Given the description of an element on the screen output the (x, y) to click on. 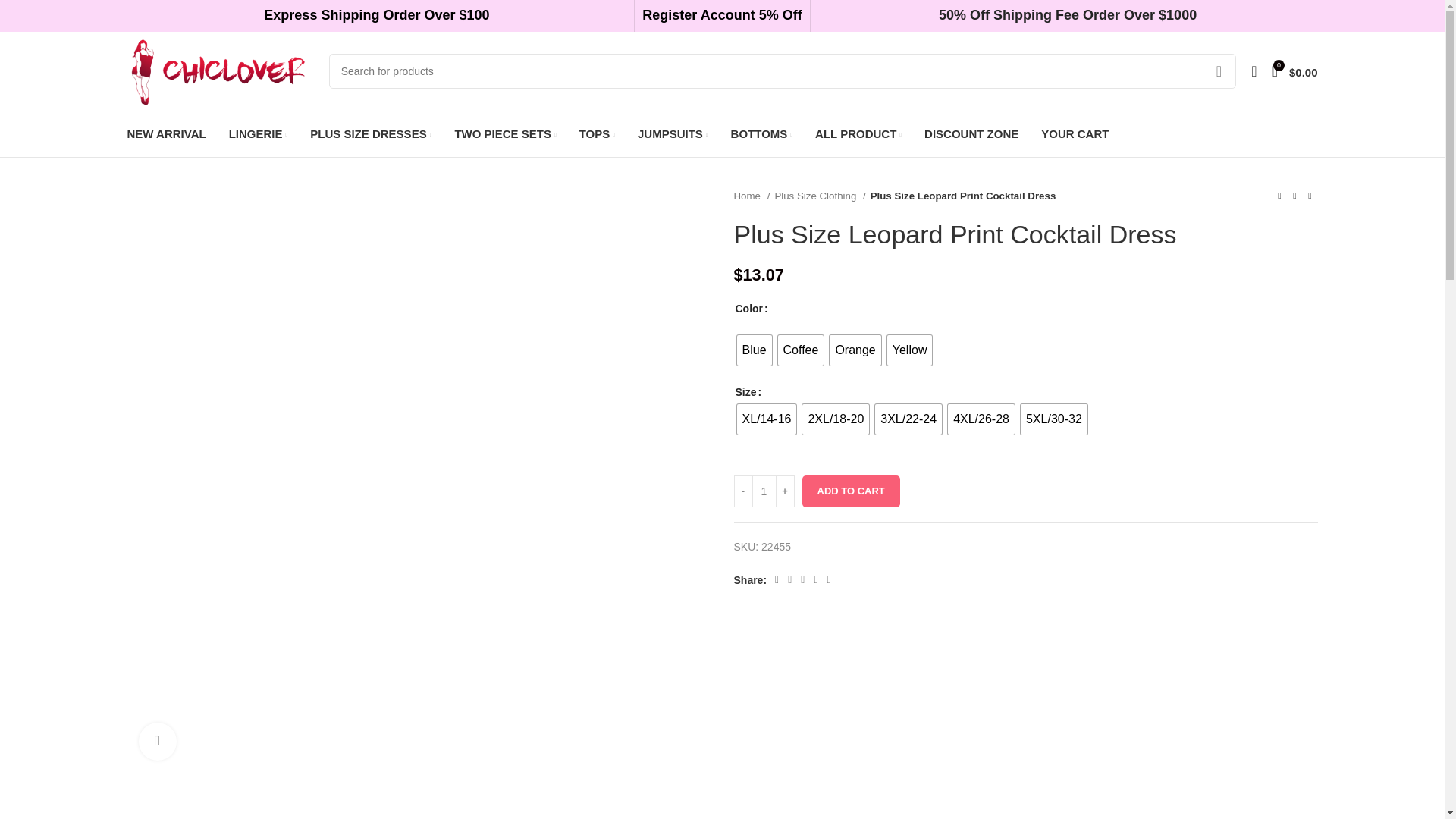
LINGERIE (258, 133)
Shopping cart (1294, 71)
NEW ARRIVAL (167, 133)
Search for products (782, 71)
SEARCH (1218, 71)
Log in (1131, 312)
